Given the description of an element on the screen output the (x, y) to click on. 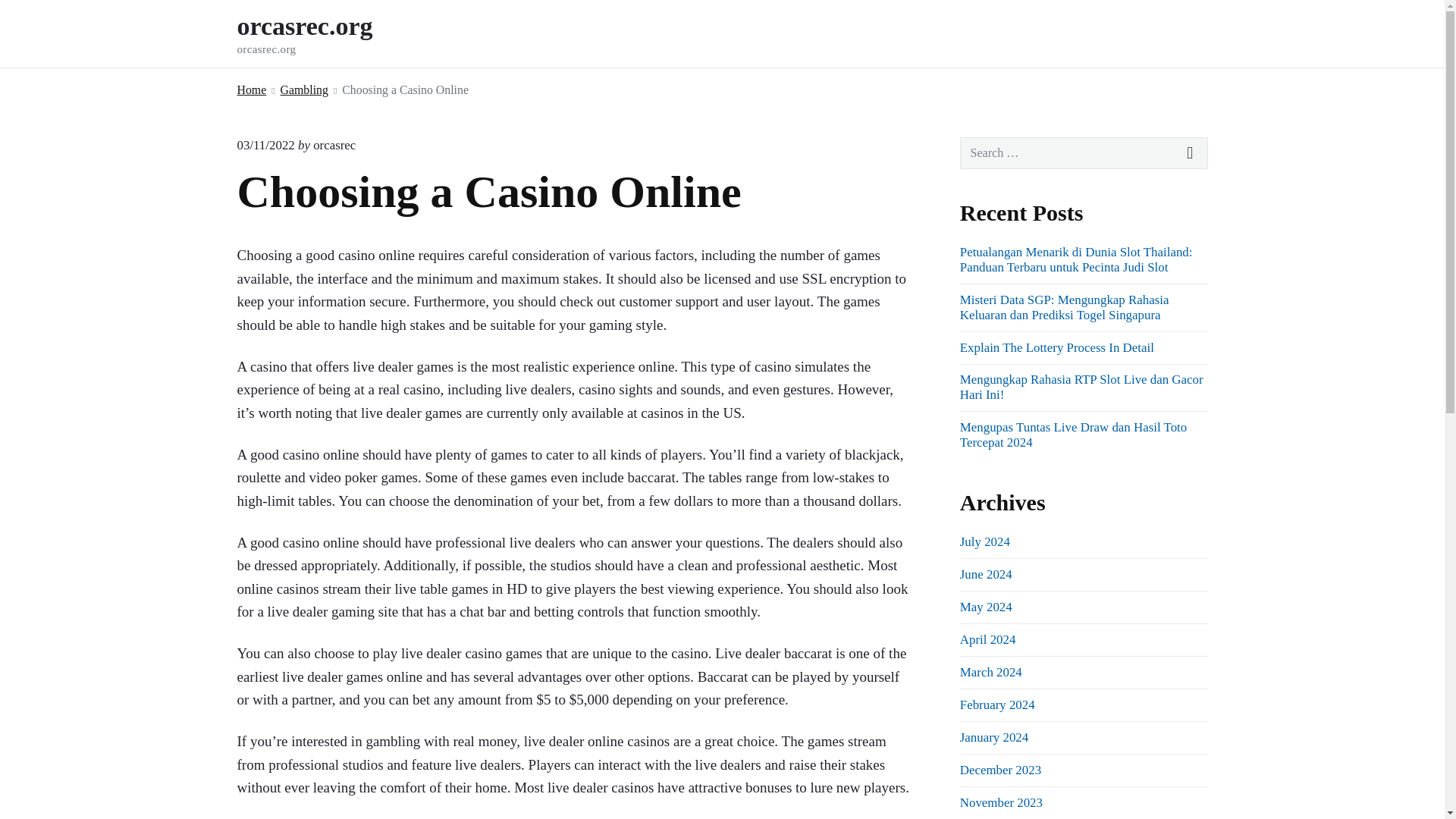
April 2024 (987, 639)
Mengupas Tuntas Live Draw dan Hasil Toto Tercepat 2024 (1072, 434)
SEARCH (1190, 152)
December 2023 (1000, 769)
Thursday, November 3, 2022, 10:05 am (264, 145)
Search for: (1083, 152)
July 2024 (984, 541)
March 2024 (990, 672)
January 2024 (993, 737)
May 2024 (985, 606)
November 2023 (324, 33)
Mengungkap Rahasia RTP Slot Live dan Gacor Hari Ini! (1000, 802)
